Given the description of an element on the screen output the (x, y) to click on. 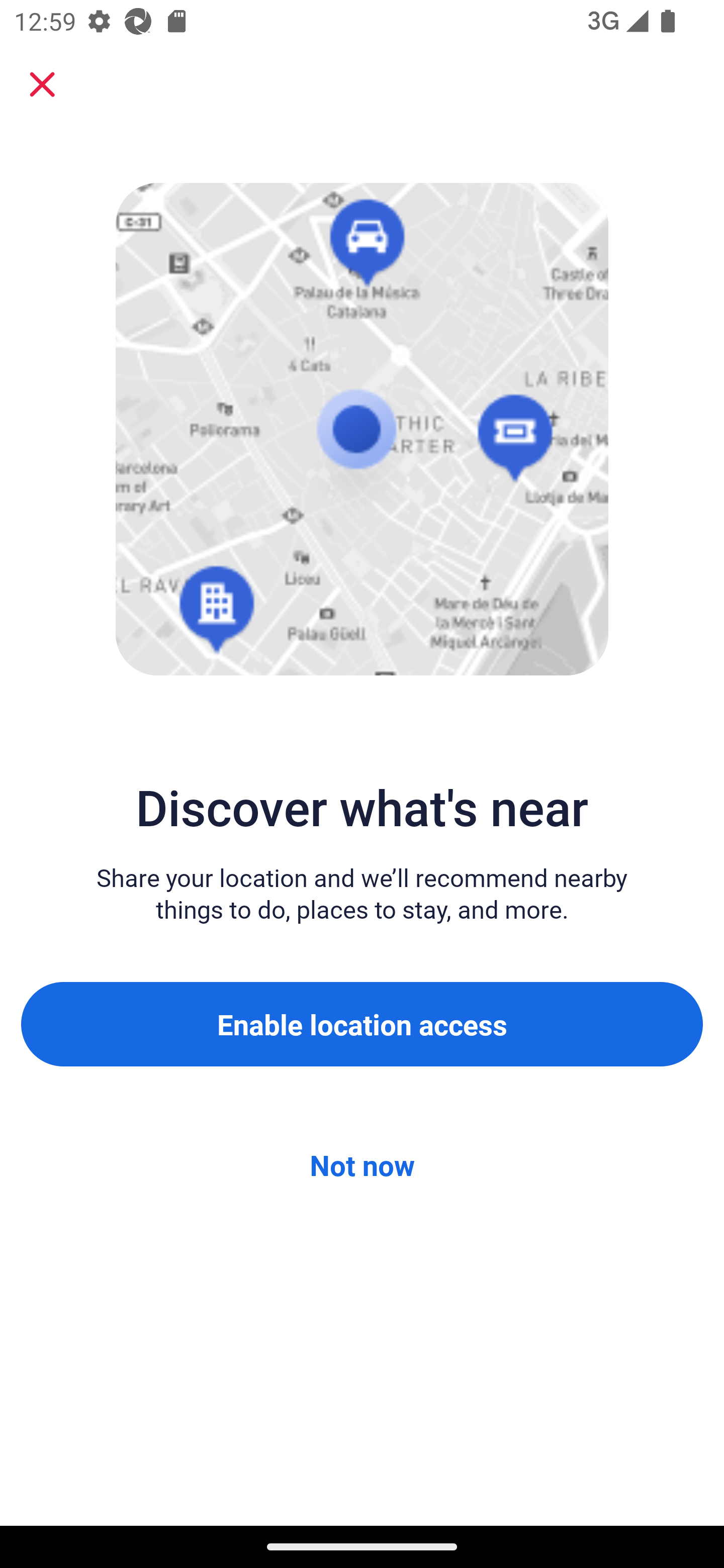
Close sheet (42, 84)
Enable location access (361, 1023)
Not now (362, 1164)
